Given the description of an element on the screen output the (x, y) to click on. 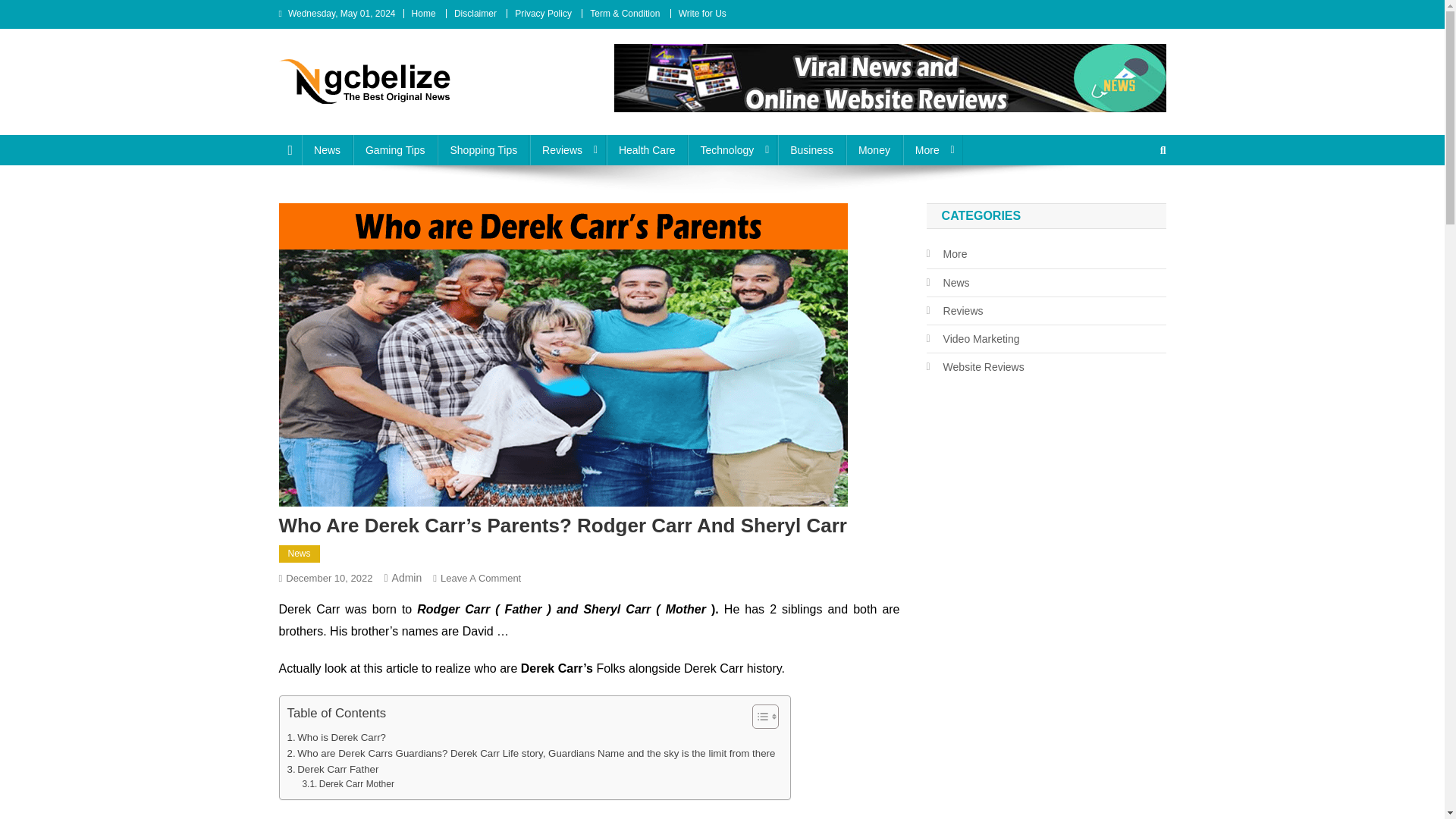
Write for Us (702, 13)
Disclaimer (475, 13)
Derek Carr Father (332, 769)
Business (811, 150)
Reviews (567, 150)
Privacy Policy (543, 13)
News (299, 554)
Health Care (647, 150)
Gaming Tips (395, 150)
Search (1133, 200)
Derek Carr Mother (347, 784)
Shopping Tips (483, 150)
Who is Derek Carr? (335, 737)
More (932, 150)
December 10, 2022 (328, 577)
